Given the description of an element on the screen output the (x, y) to click on. 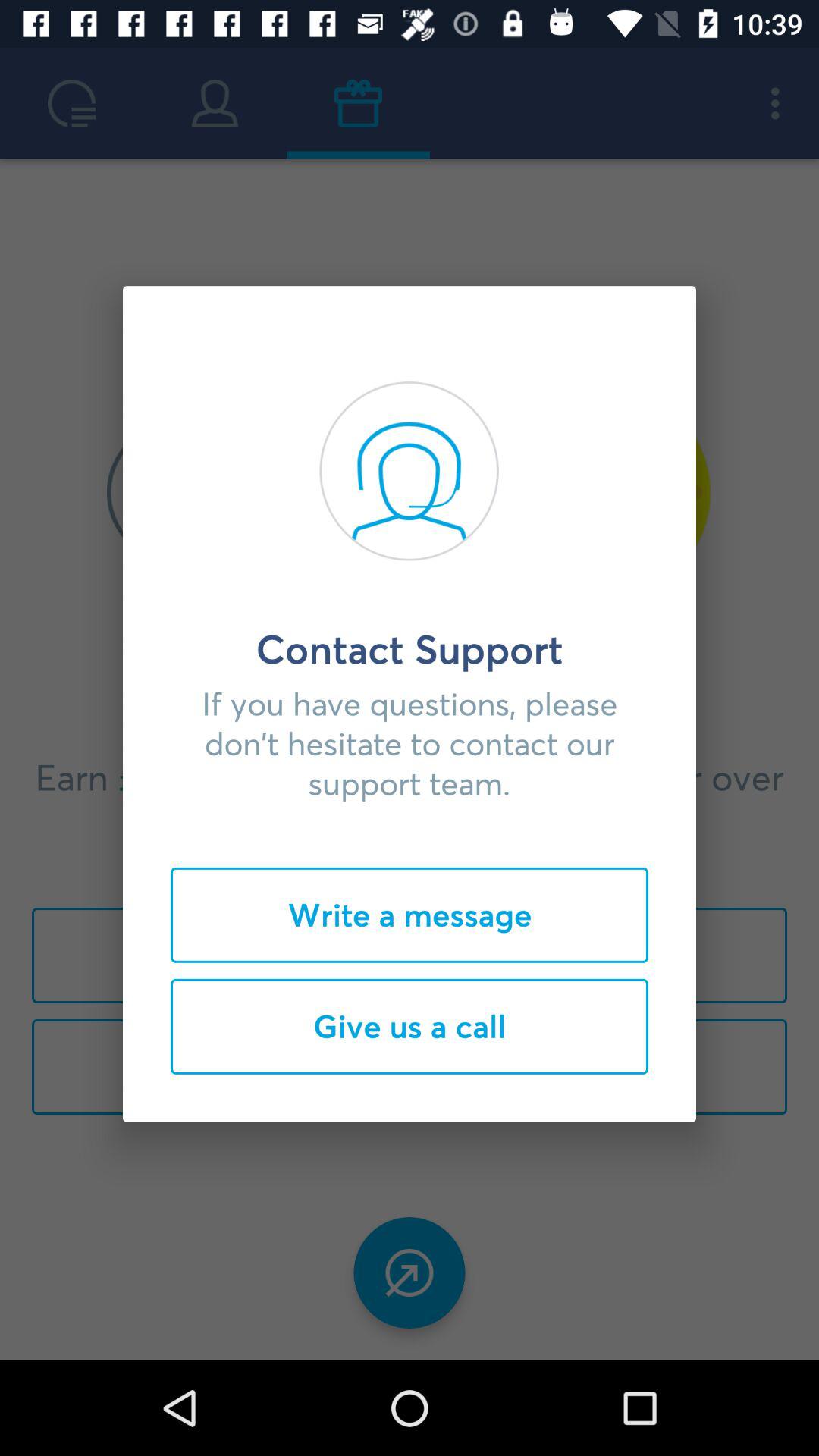
press icon below the if you have (409, 914)
